Given the description of an element on the screen output the (x, y) to click on. 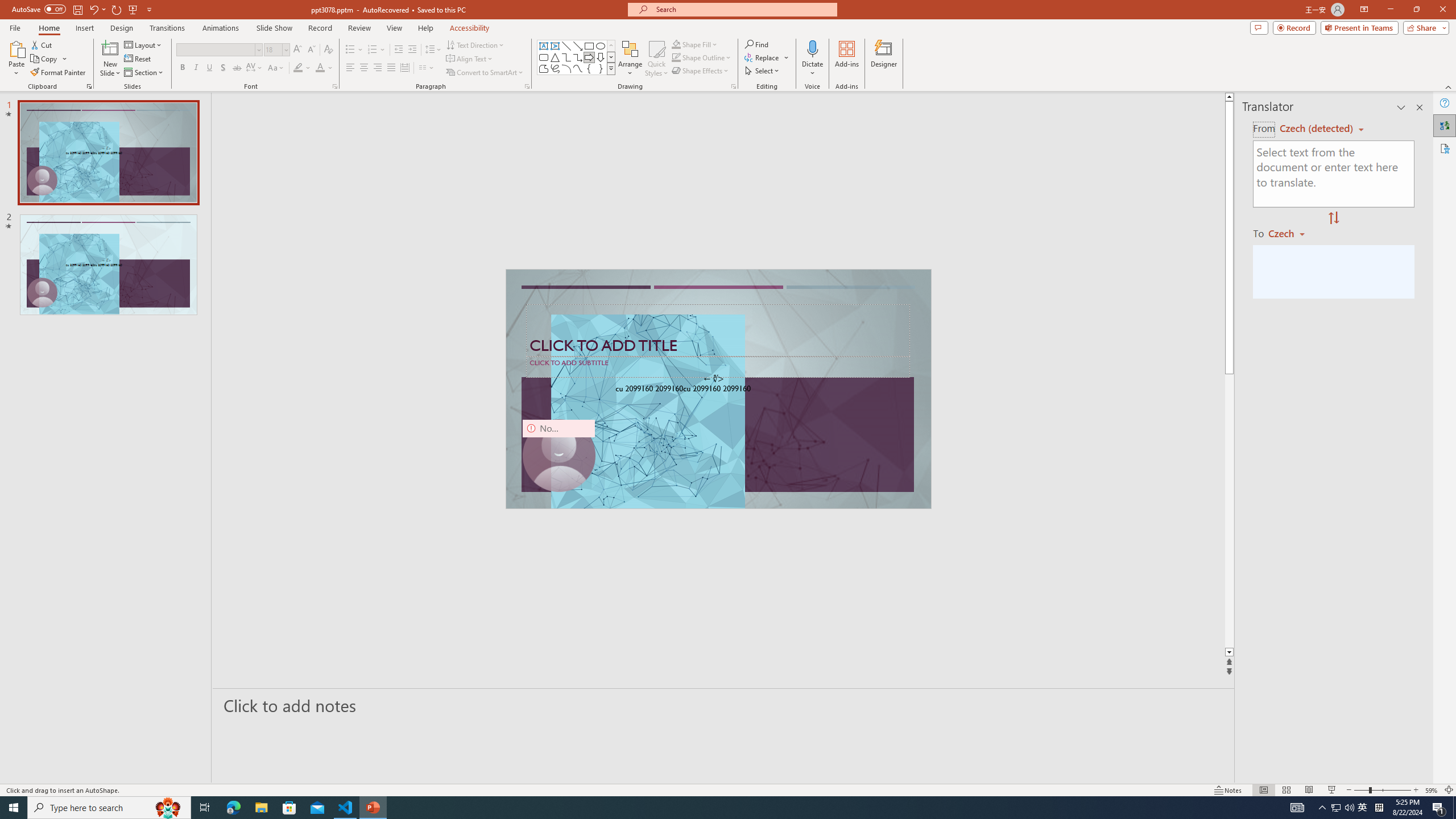
Swap "from" and "to" languages. (1333, 218)
